Given the description of an element on the screen output the (x, y) to click on. 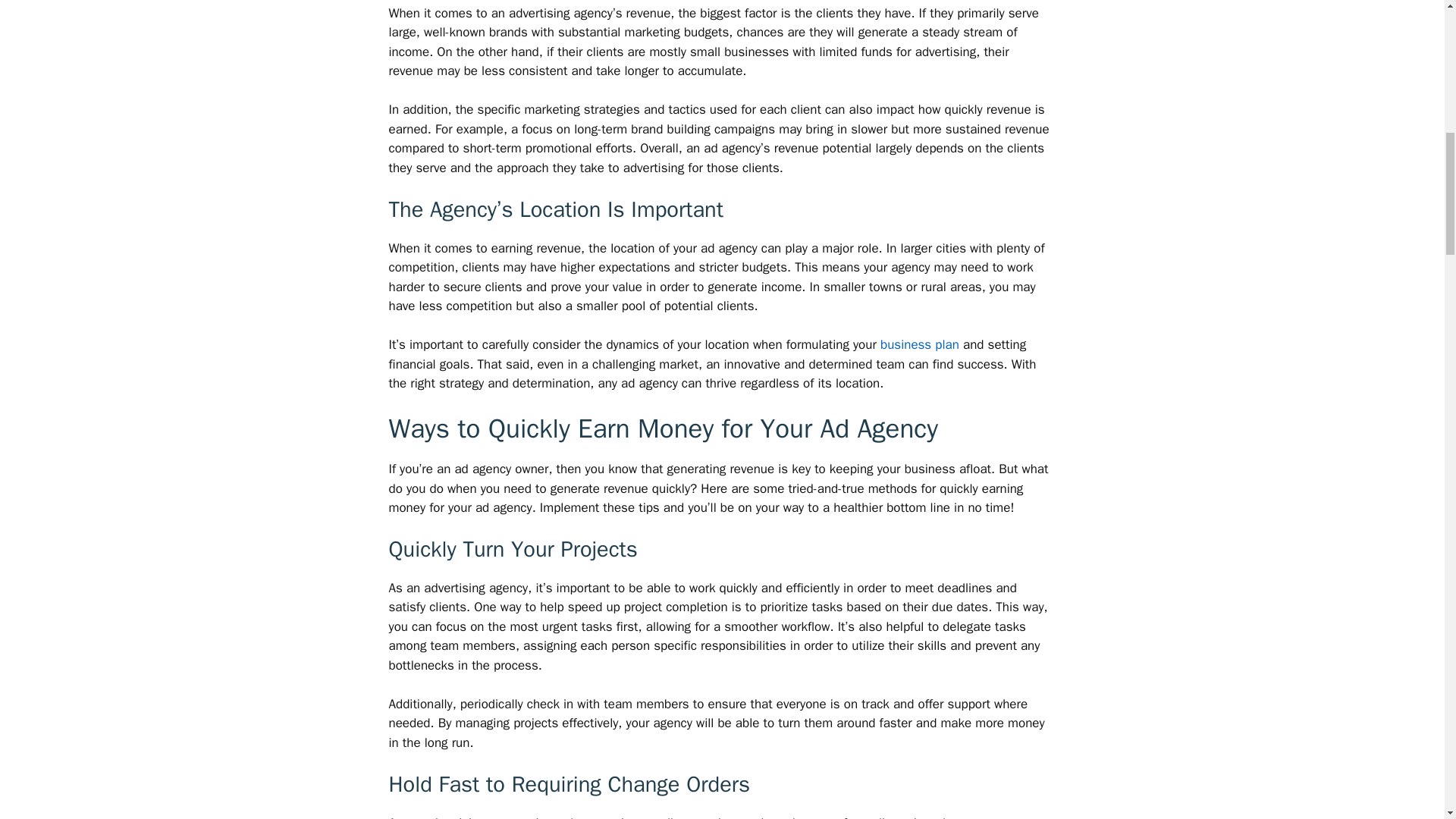
business plan (919, 344)
